Given the description of an element on the screen output the (x, y) to click on. 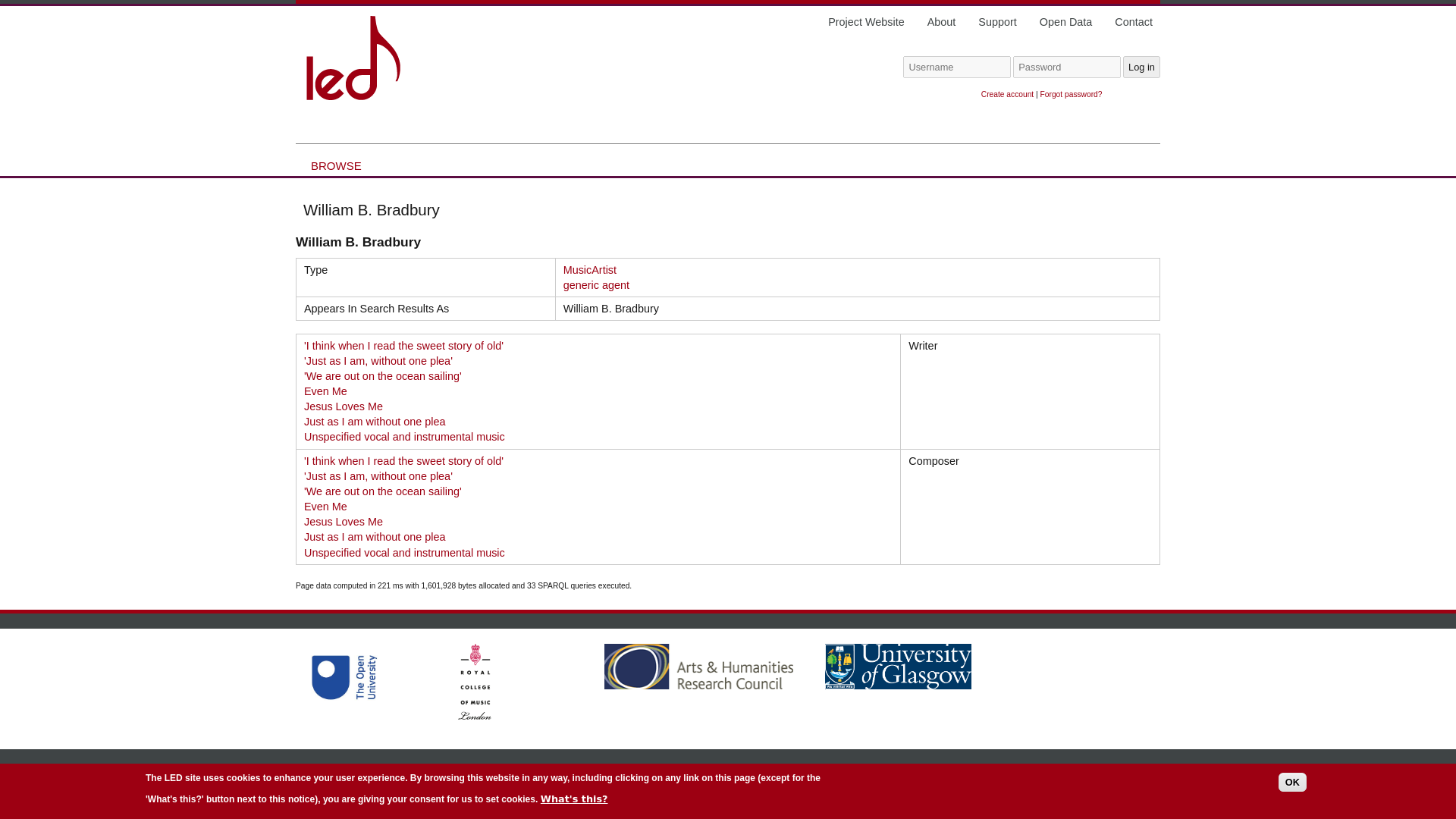
Create account (1007, 94)
About (941, 21)
BROWSE (336, 164)
'We are out on the ocean sailing' (382, 491)
'We are out on the ocean sailing' (382, 376)
Log in (1141, 66)
generic agent (595, 285)
Project Website (866, 21)
Support (997, 21)
Forgot password? (1071, 94)
Log in (1141, 66)
Just as I am without one plea (374, 421)
'Just as I am, without one plea' (378, 476)
MusicArtist (589, 269)
Open Data (1066, 21)
